Given the description of an element on the screen output the (x, y) to click on. 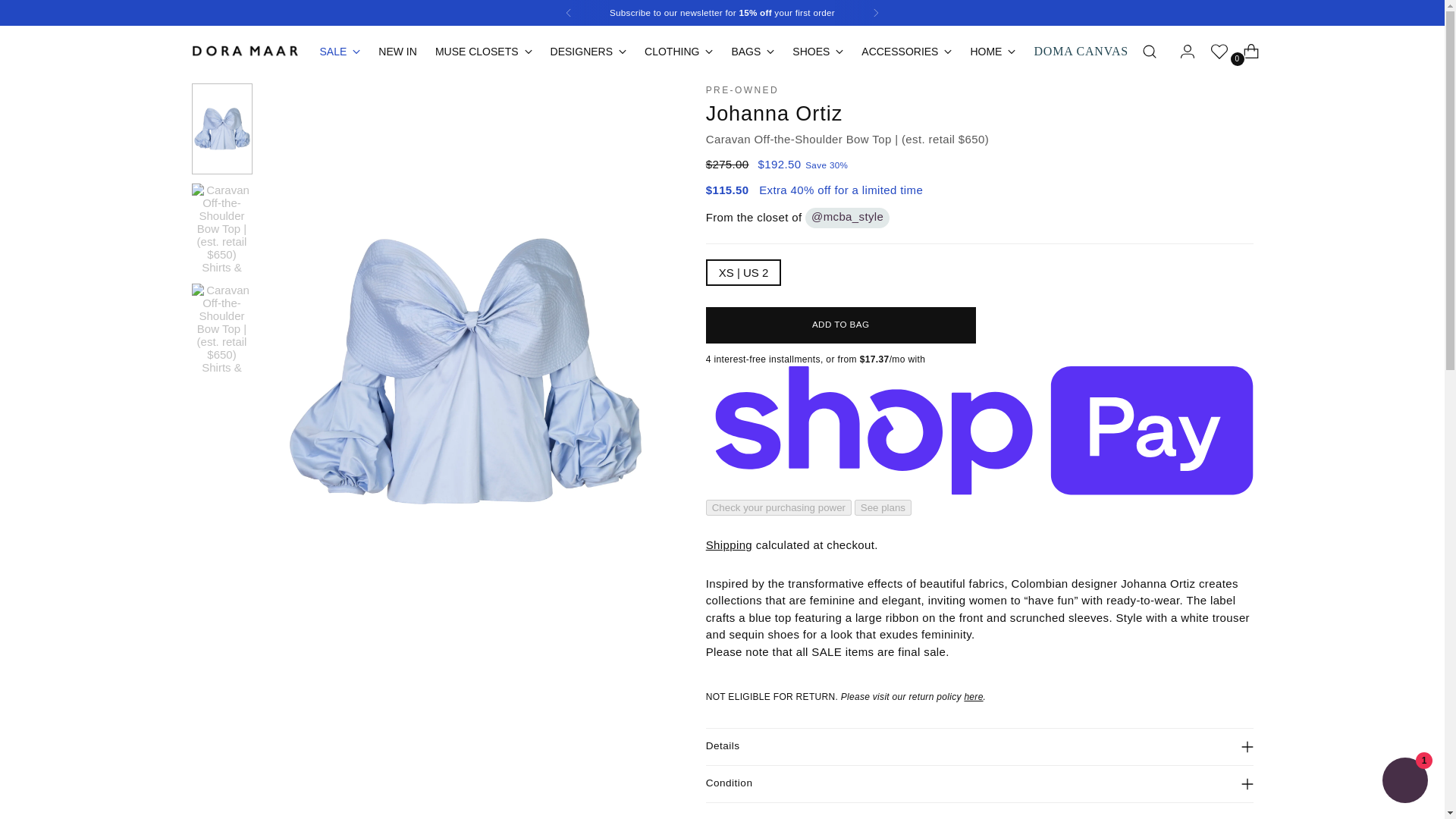
SALE (340, 51)
NEW IN (397, 51)
Shopify online store chat (1404, 781)
MUSE CLOSETS (483, 51)
Next (875, 12)
Previous (568, 12)
Johanna Ortiz (774, 112)
